Given the description of an element on the screen output the (x, y) to click on. 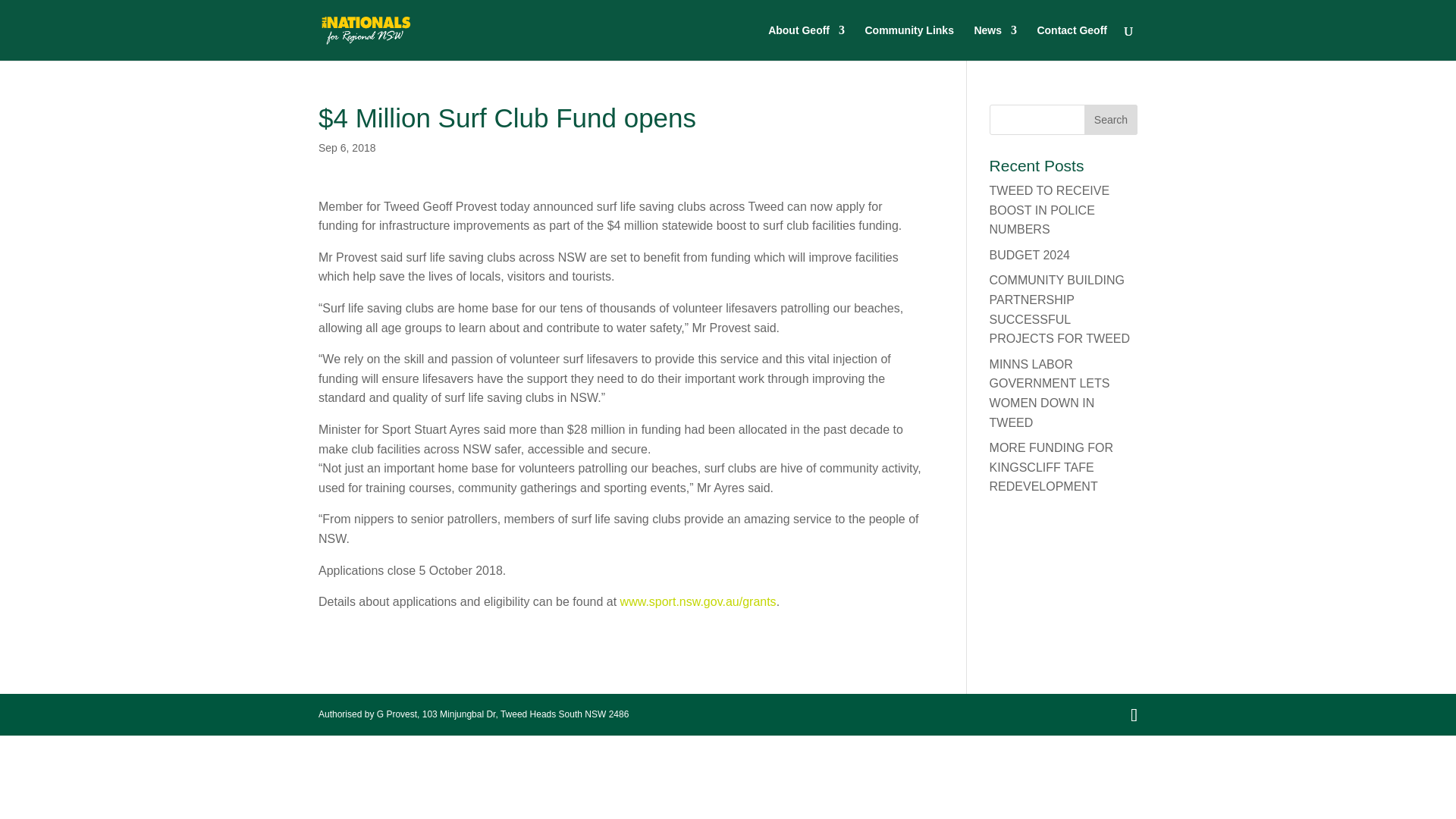
Search (1110, 119)
Search (1110, 119)
BUDGET 2024 (1030, 254)
Community Links (908, 42)
TWEED TO RECEIVE BOOST IN POLICE NUMBERS (1049, 209)
About Geoff (806, 42)
Contact Geoff (1071, 42)
MORE FUNDING FOR KINGSCLIFF TAFE REDEVELOPMENT (1051, 467)
News (995, 42)
COMMUNITY BUILDING PARTNERSHIP SUCCESSFUL PROJECTS FOR TWEED (1060, 308)
